Given the description of an element on the screen output the (x, y) to click on. 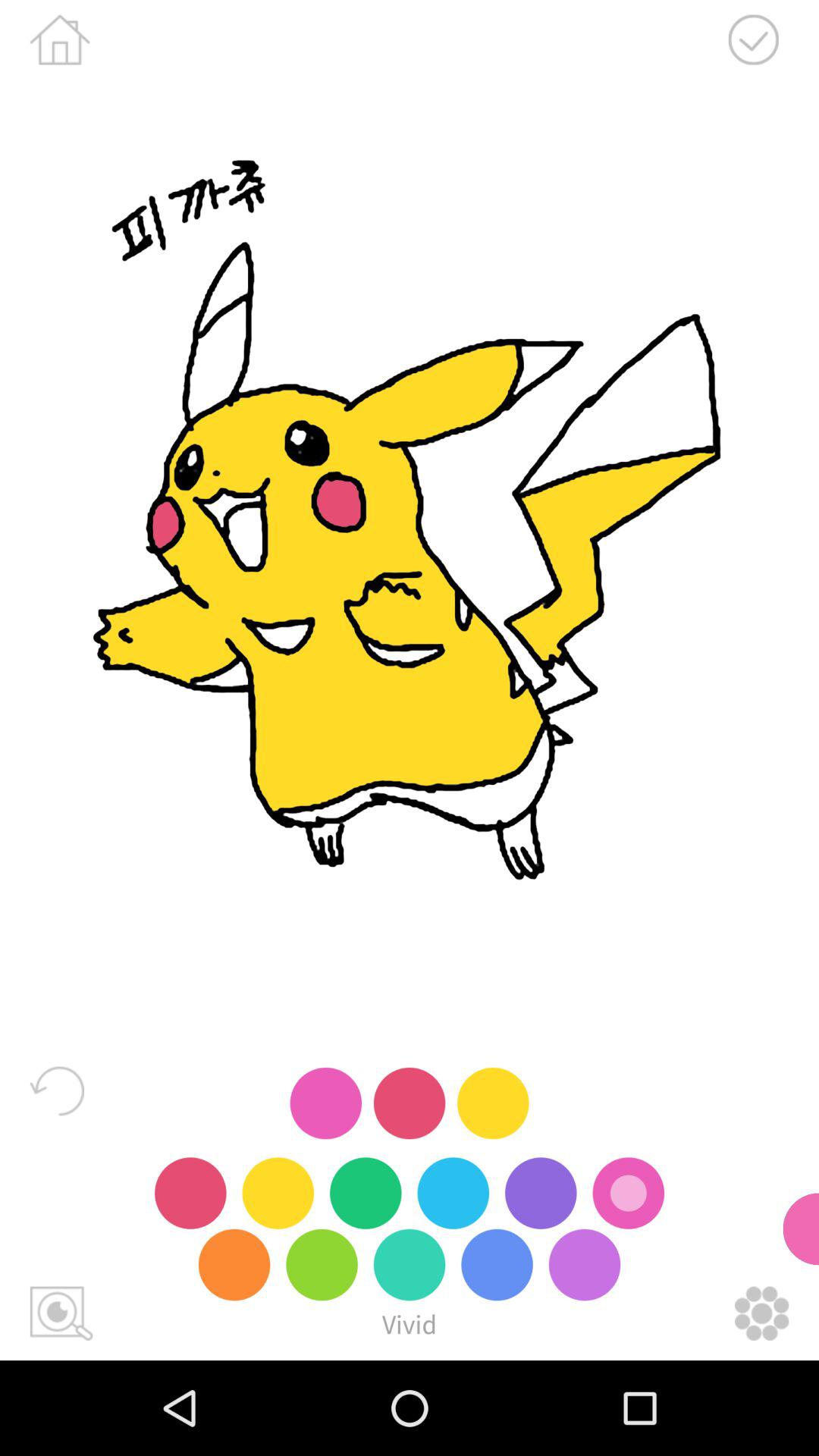
return to the home page (59, 39)
